Given the description of an element on the screen output the (x, y) to click on. 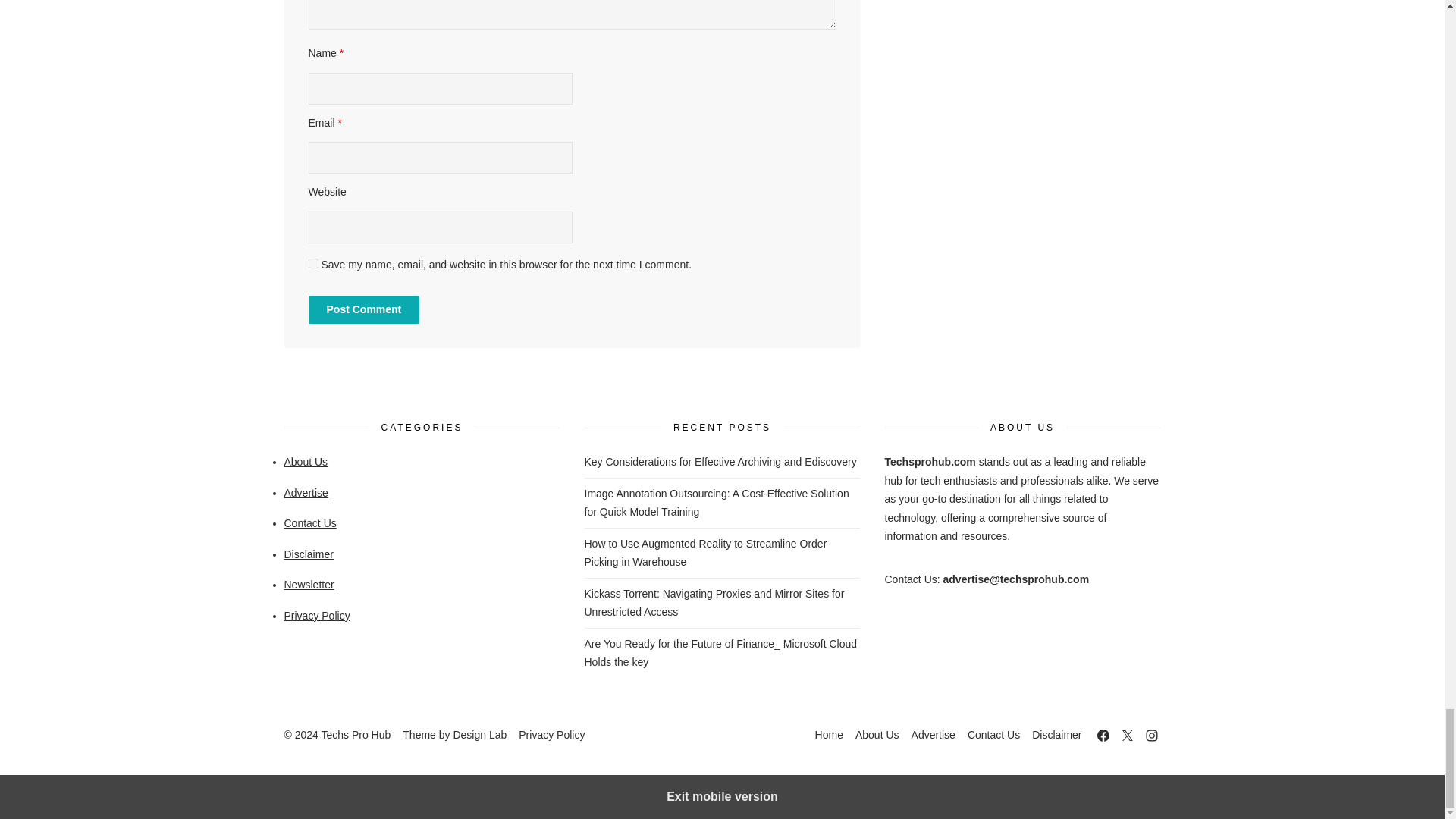
Post Comment (363, 309)
yes (312, 263)
Post Comment (363, 309)
